Given the description of an element on the screen output the (x, y) to click on. 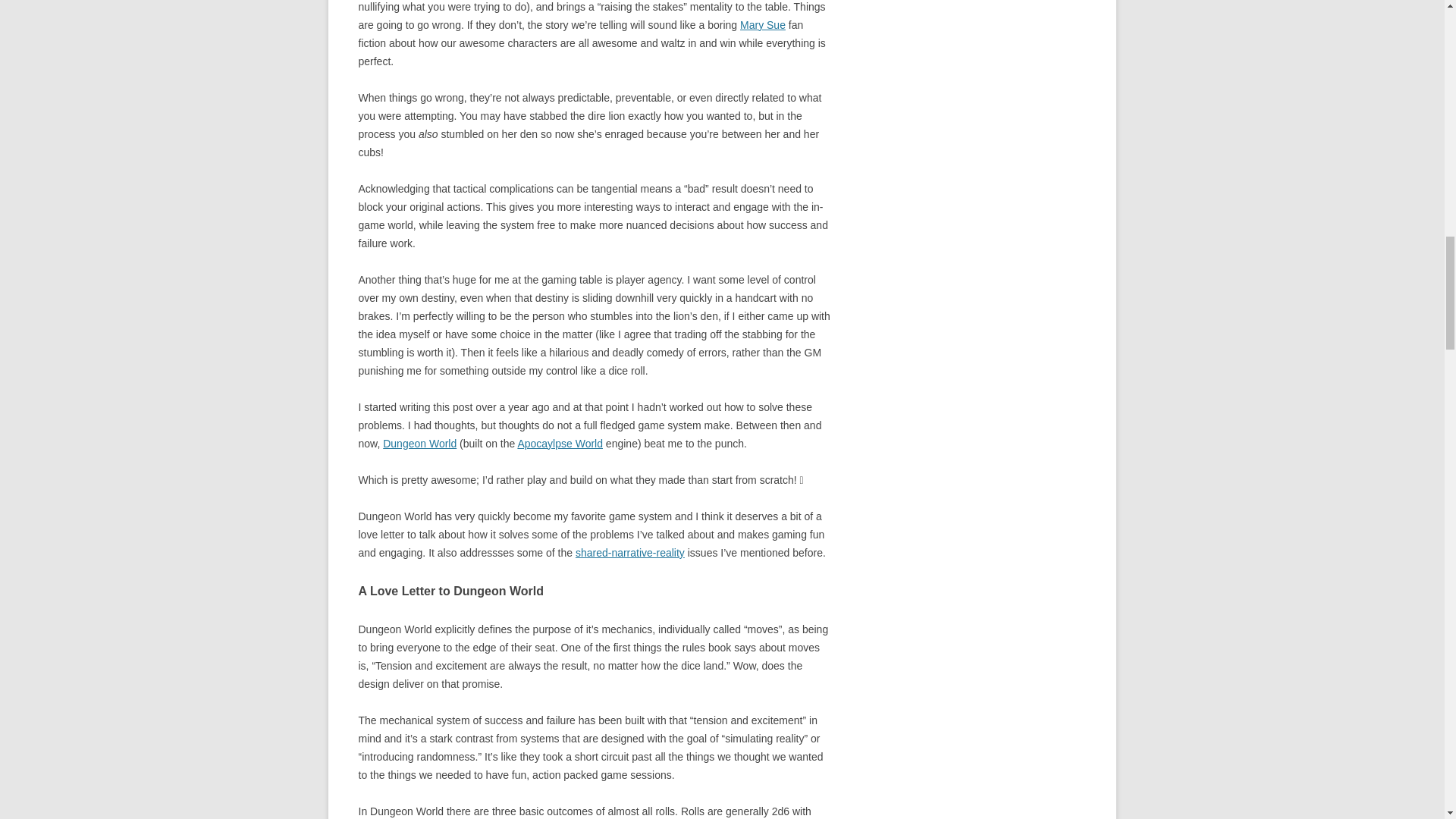
Dungeon World (419, 443)
shared-narrative-reality (629, 552)
Mary Sue (762, 24)
Apocaylpse World (559, 443)
